Given the description of an element on the screen output the (x, y) to click on. 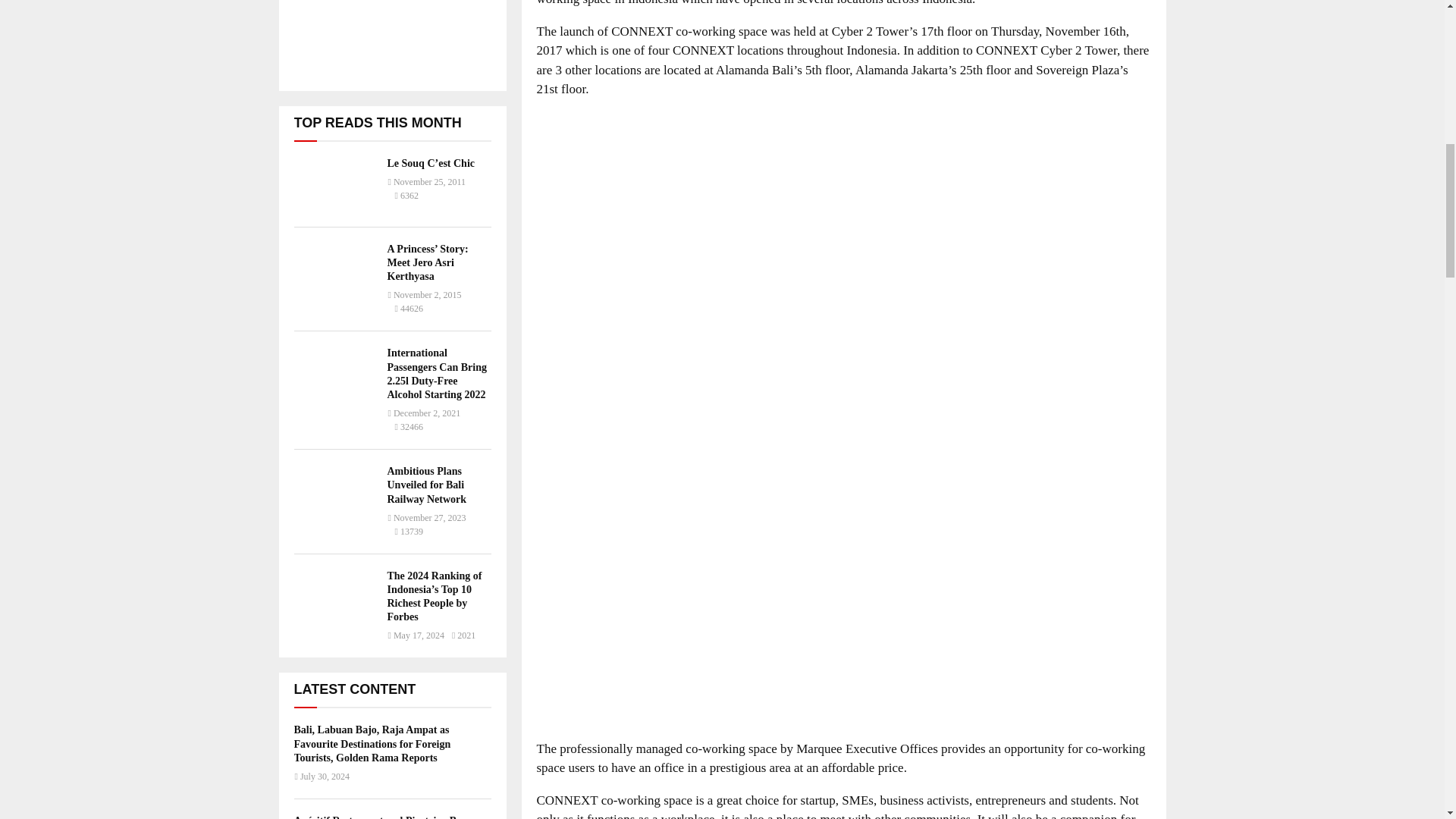
 Ambitious Plans Unveiled for Bali Railway Network  (426, 485)
